Given the description of an element on the screen output the (x, y) to click on. 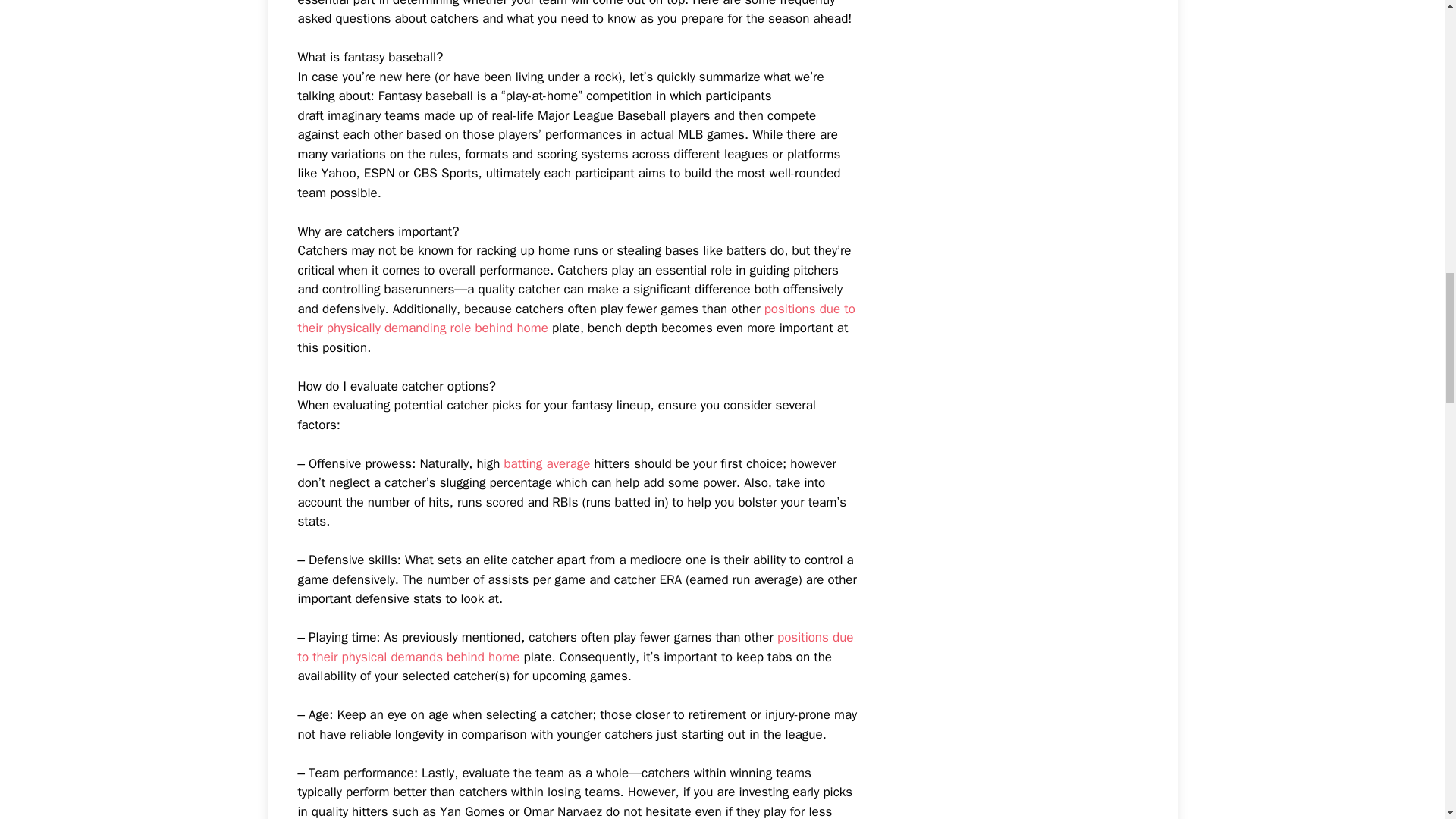
positions due to their physically demanding role behind home (575, 318)
positions due to their physical demands behind home (575, 647)
batting average (546, 463)
